Given the description of an element on the screen output the (x, y) to click on. 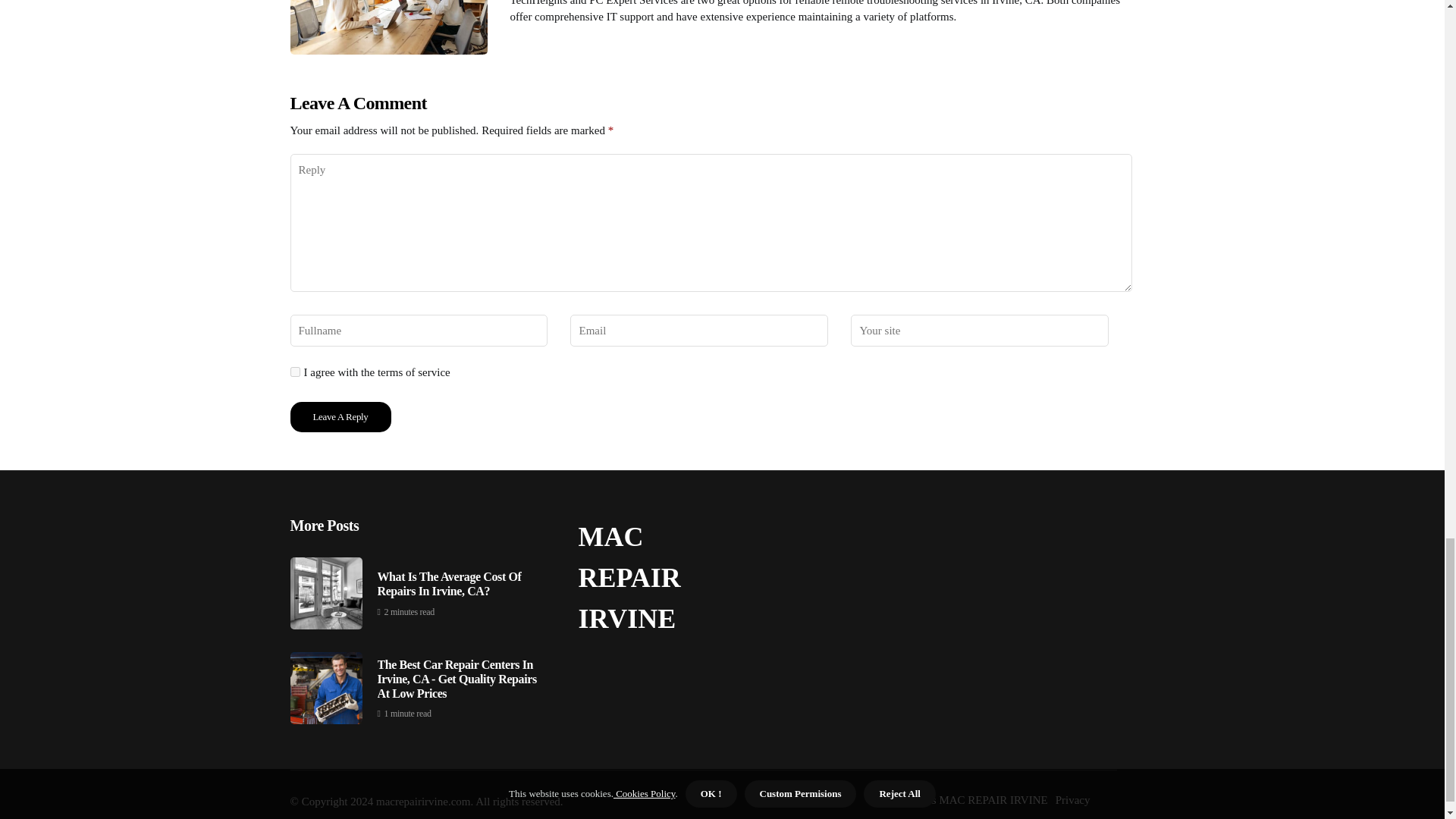
Leave a Reply (339, 417)
Leave a Reply (339, 417)
yes (294, 371)
